Given the description of an element on the screen output the (x, y) to click on. 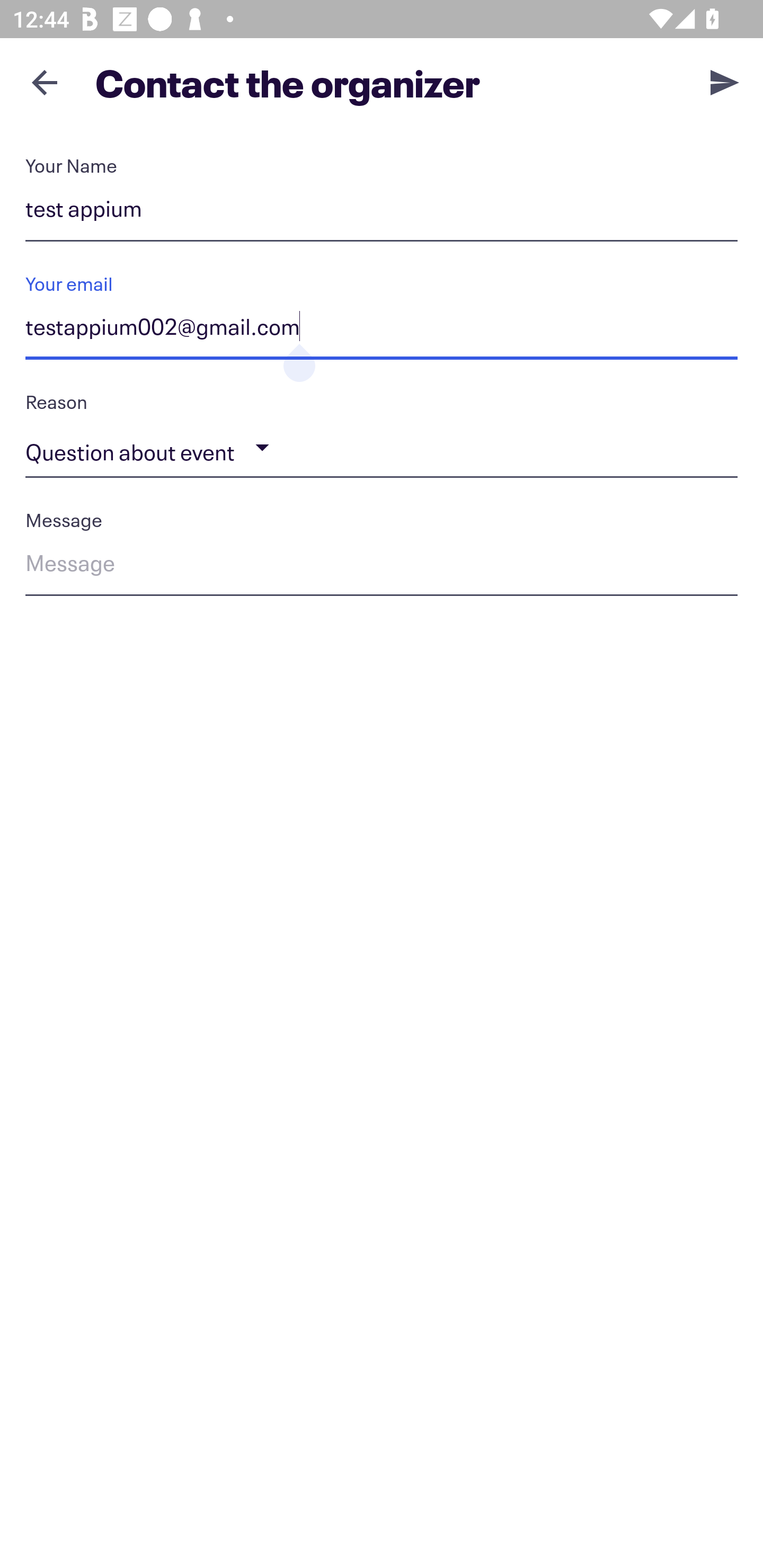
Navigate up (44, 82)
Send (724, 81)
test appium (381, 211)
testappium002@gmail.com (381, 329)
Question about event    (381, 447)
Message (381, 565)
